Given the description of an element on the screen output the (x, y) to click on. 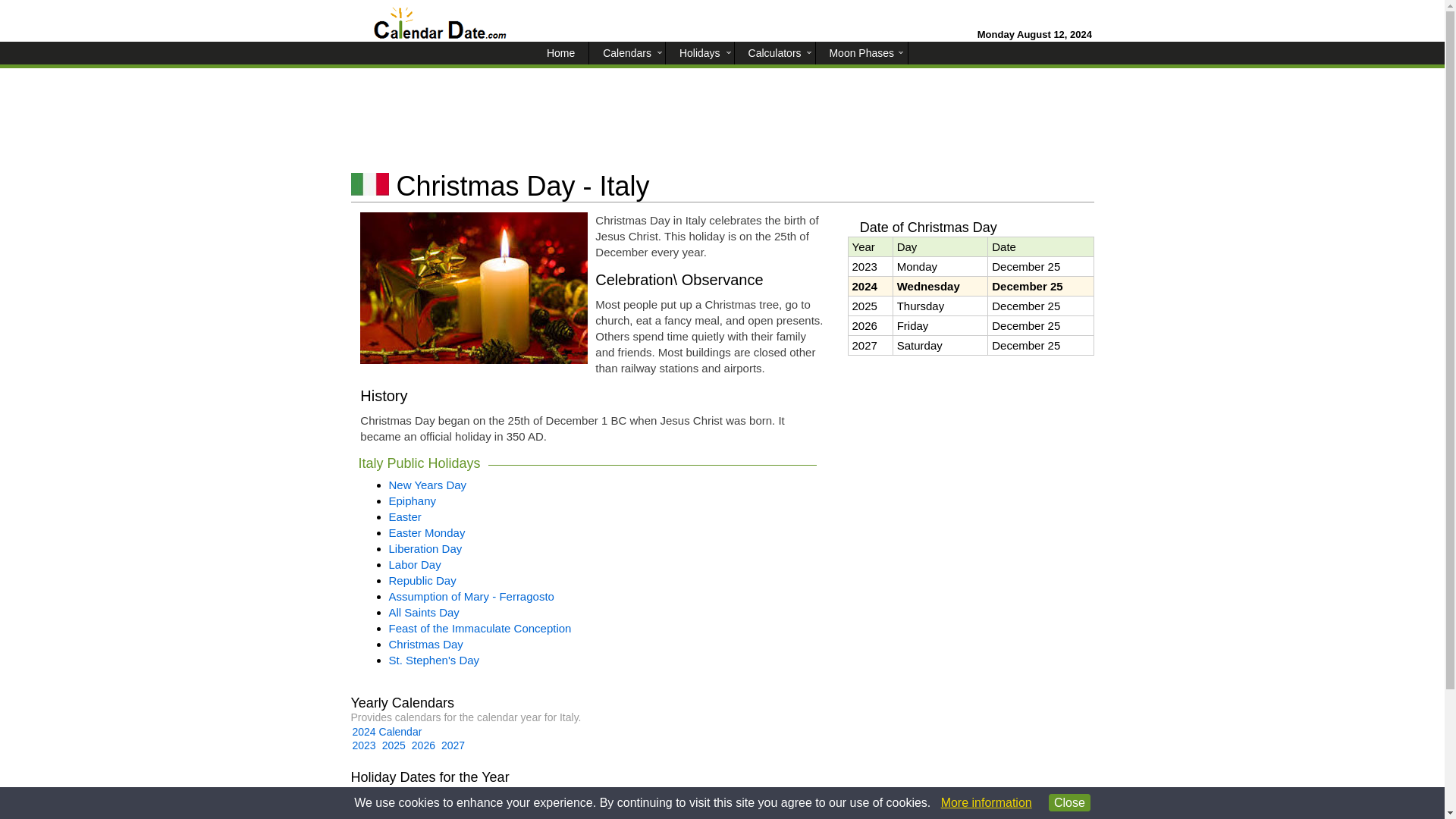
Liberation Day (424, 548)
Calendars (628, 52)
Easter Monday (426, 532)
St. Stephen's Day (433, 659)
Home (562, 52)
Labor Day (414, 563)
Feast of the Immaculate Conception (479, 627)
All Saints Day (423, 612)
2025 (393, 745)
2024 Calendar (387, 731)
